Given the description of an element on the screen output the (x, y) to click on. 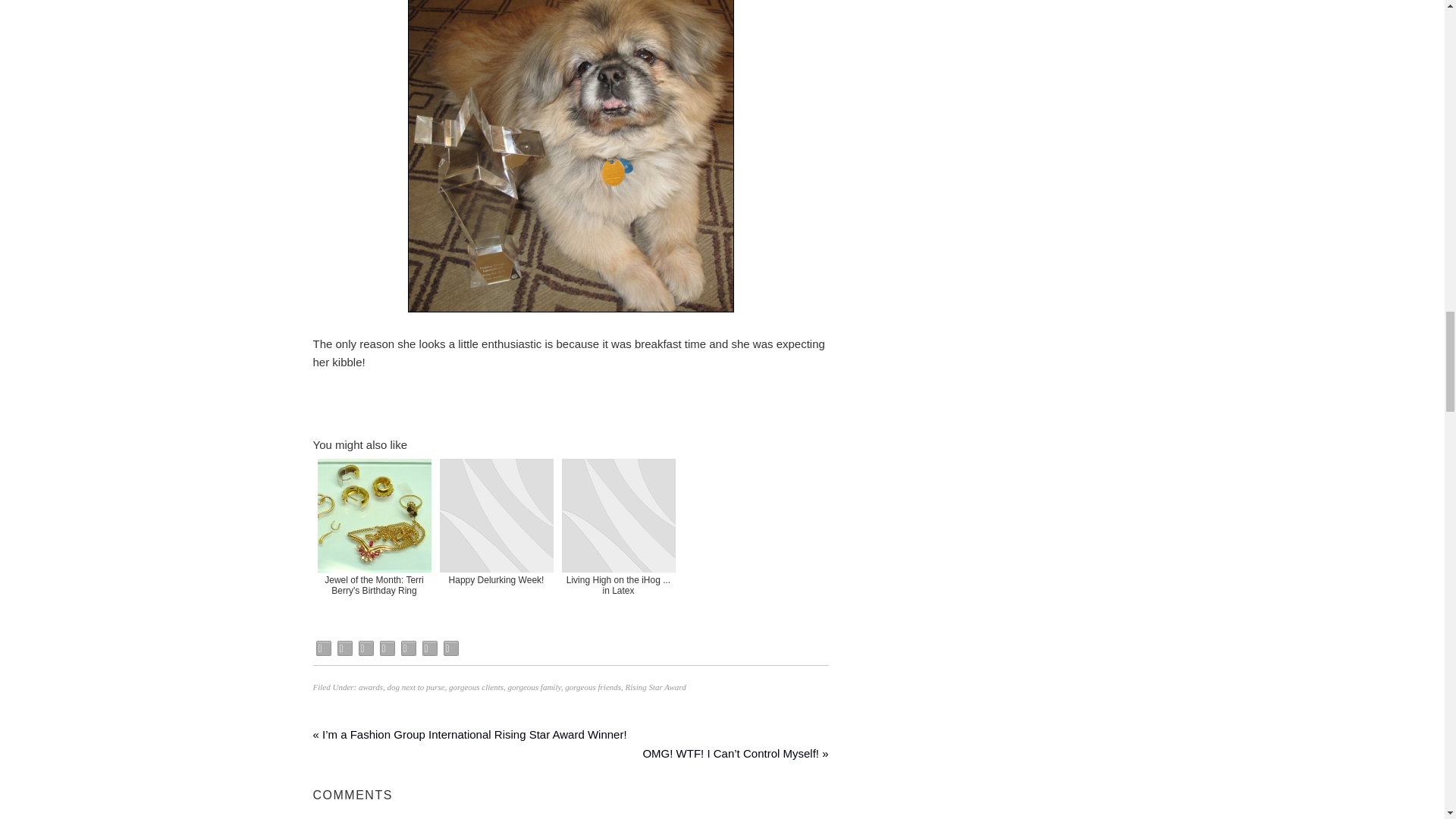
awards (370, 686)
Pinterest (386, 648)
gorgeous friends (592, 686)
dog next to purse (415, 686)
Tumblr (408, 648)
More Options (450, 648)
LinkedIn (429, 648)
risinggigi (570, 156)
gorgeous clients (475, 686)
Rising Star Award (655, 686)
gorgeous family (534, 686)
Email This (365, 648)
Facebook (323, 648)
